Given the description of an element on the screen output the (x, y) to click on. 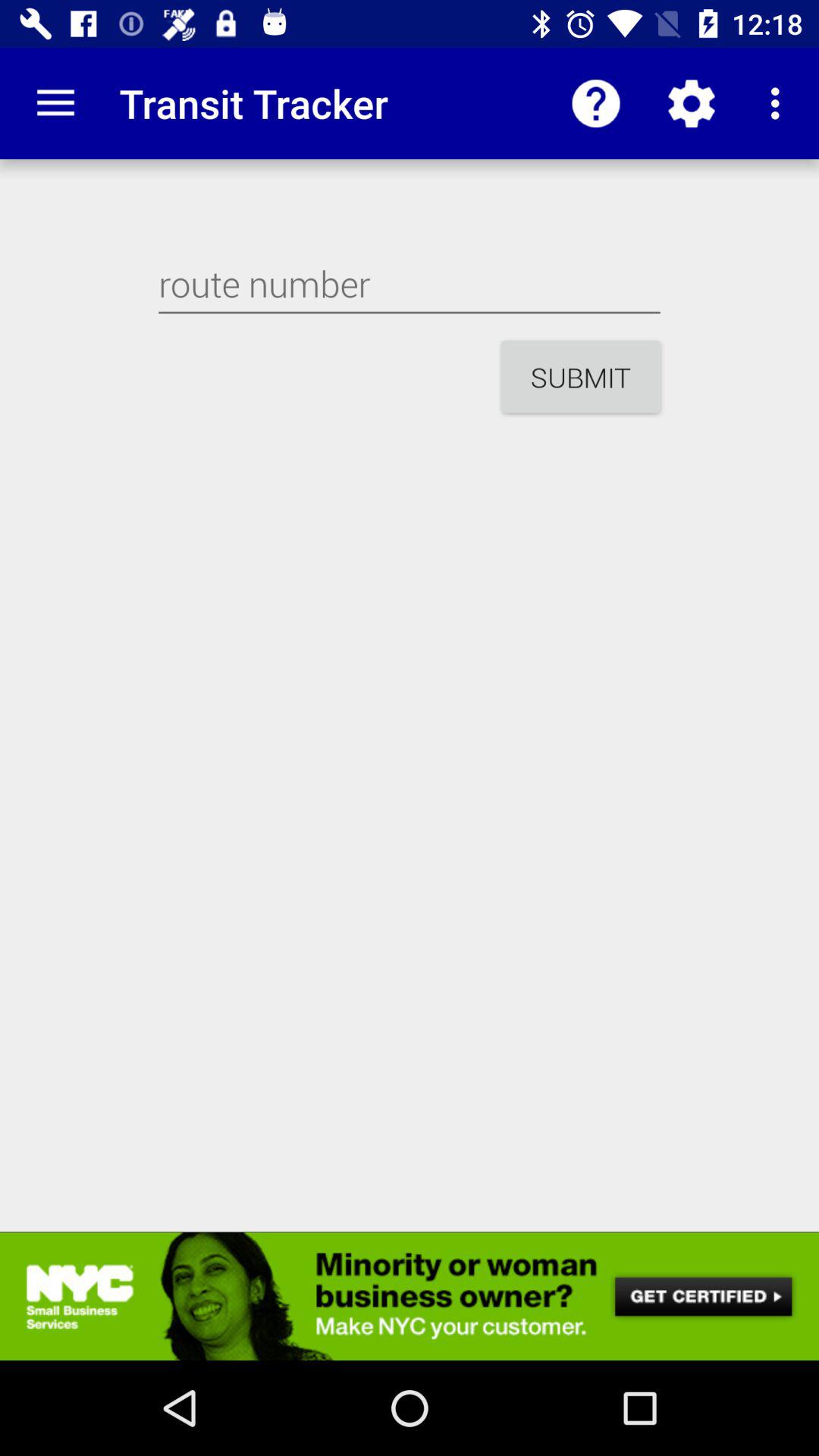
routenumber (409, 284)
